Given the description of an element on the screen output the (x, y) to click on. 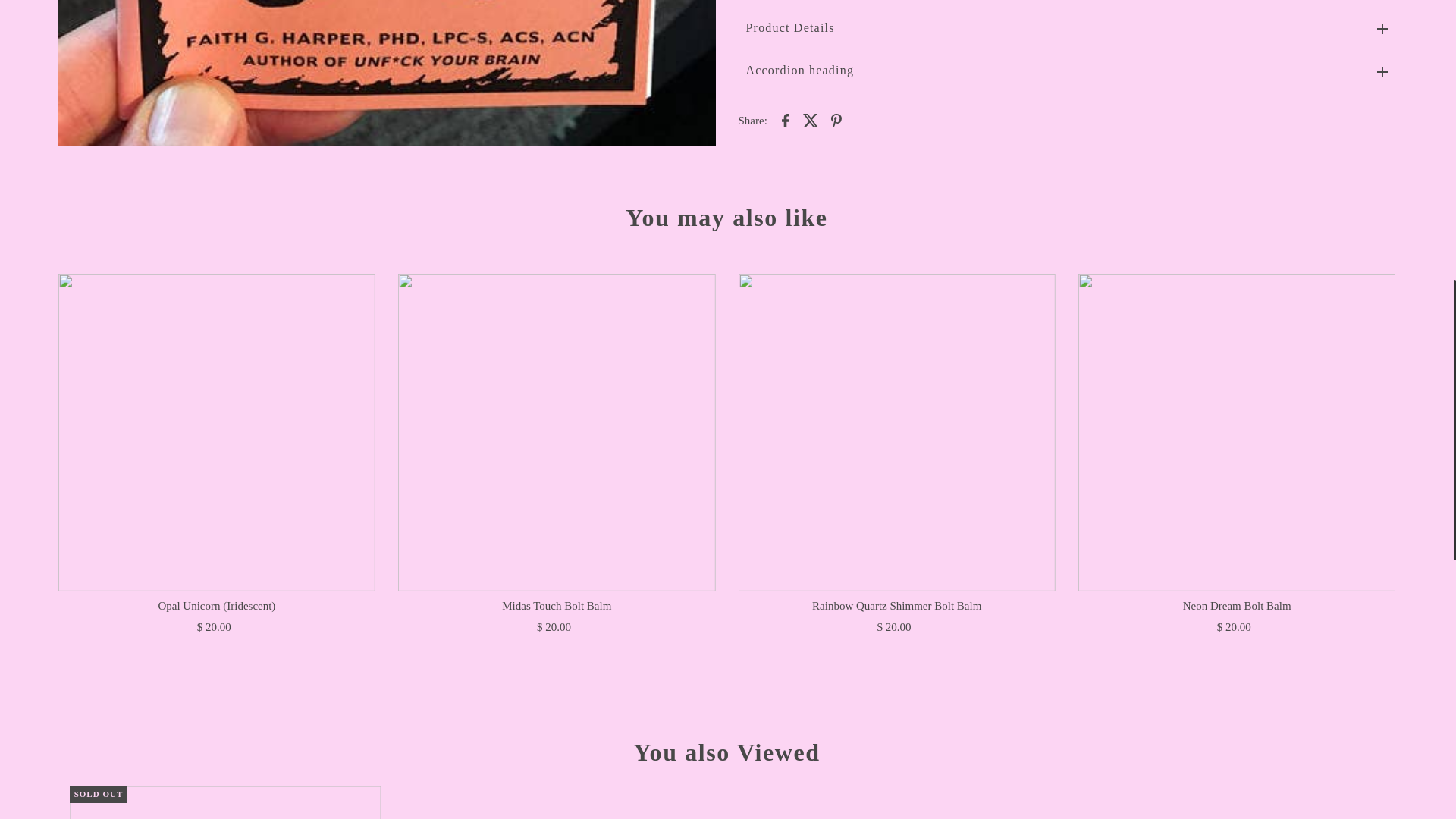
Rainbow Quartz Shimmer Bolt Balm (896, 431)
Sexing Yourself: Masturbation For Your Own Pleasure (225, 802)
Neon Dream Bolt Balm (1236, 431)
Share on Twitter (810, 119)
Share on Pinterest (836, 119)
Share on Facebook (785, 119)
Midas Touch Bolt Balm (555, 431)
